Given the description of an element on the screen output the (x, y) to click on. 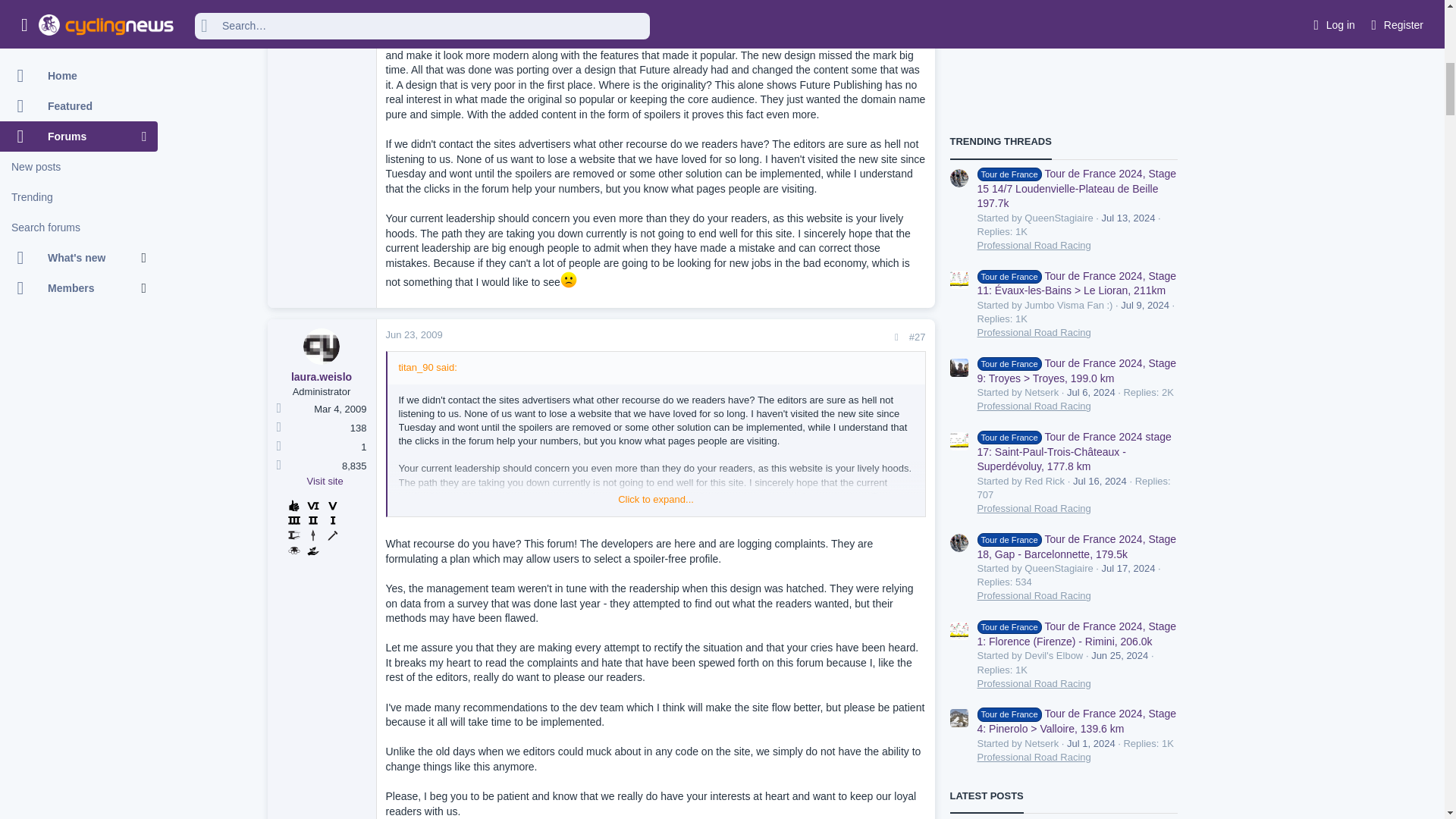
Jun 23, 2009 at 6:41 PM (413, 334)
